Given the description of an element on the screen output the (x, y) to click on. 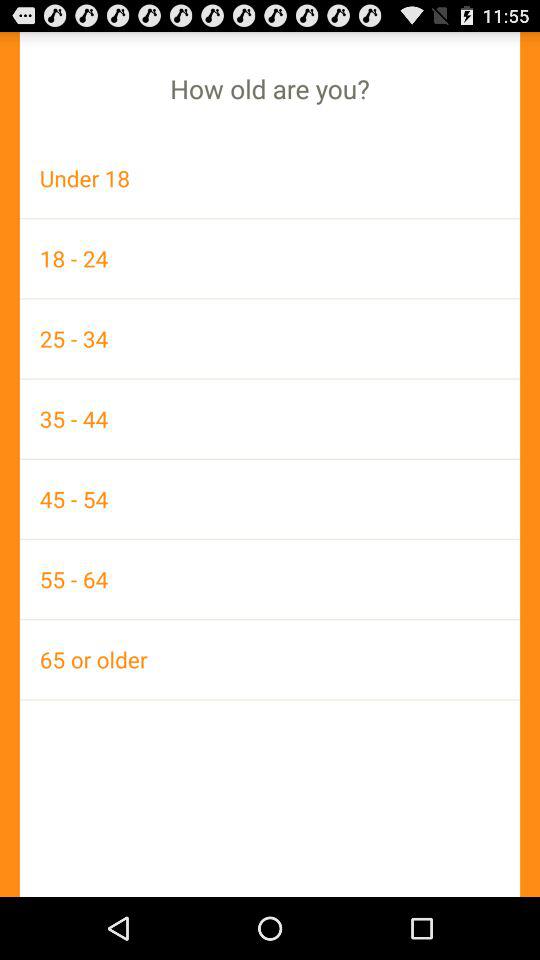
tap icon above 25 - 34 app (269, 258)
